Given the description of an element on the screen output the (x, y) to click on. 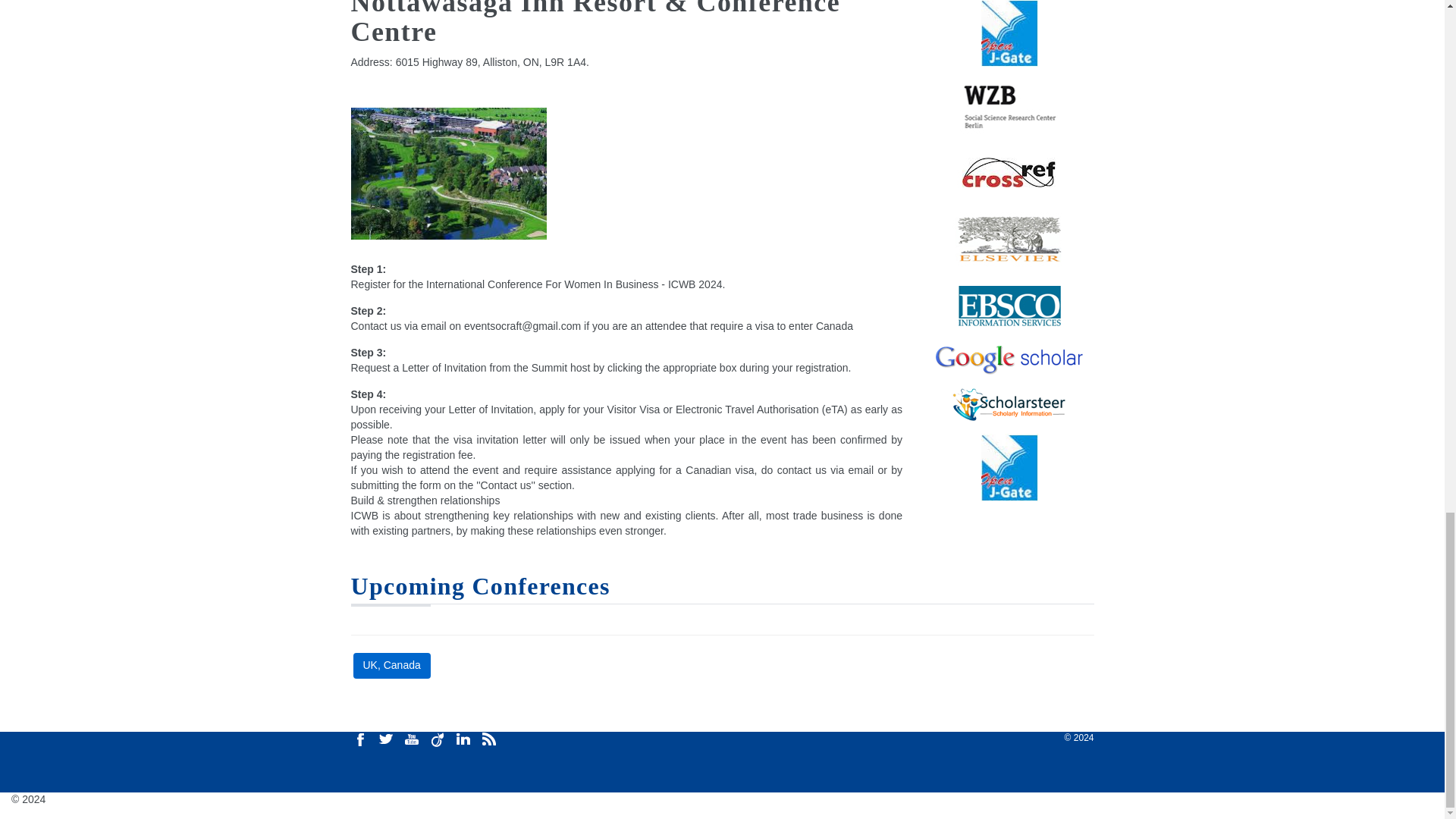
UK, Canada (391, 665)
